Given the description of an element on the screen output the (x, y) to click on. 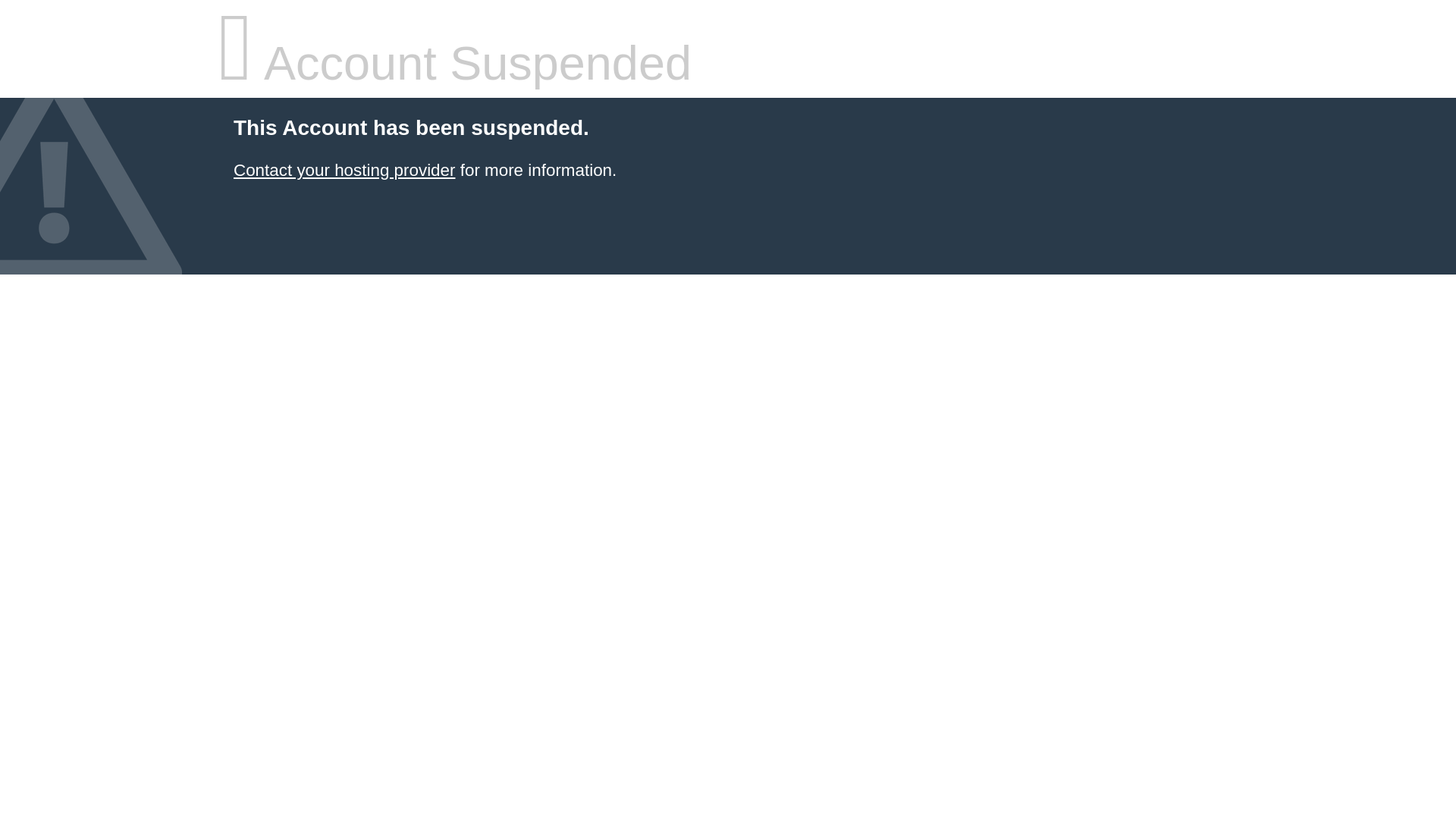
Contact your hosting provider (343, 169)
